Given the description of an element on the screen output the (x, y) to click on. 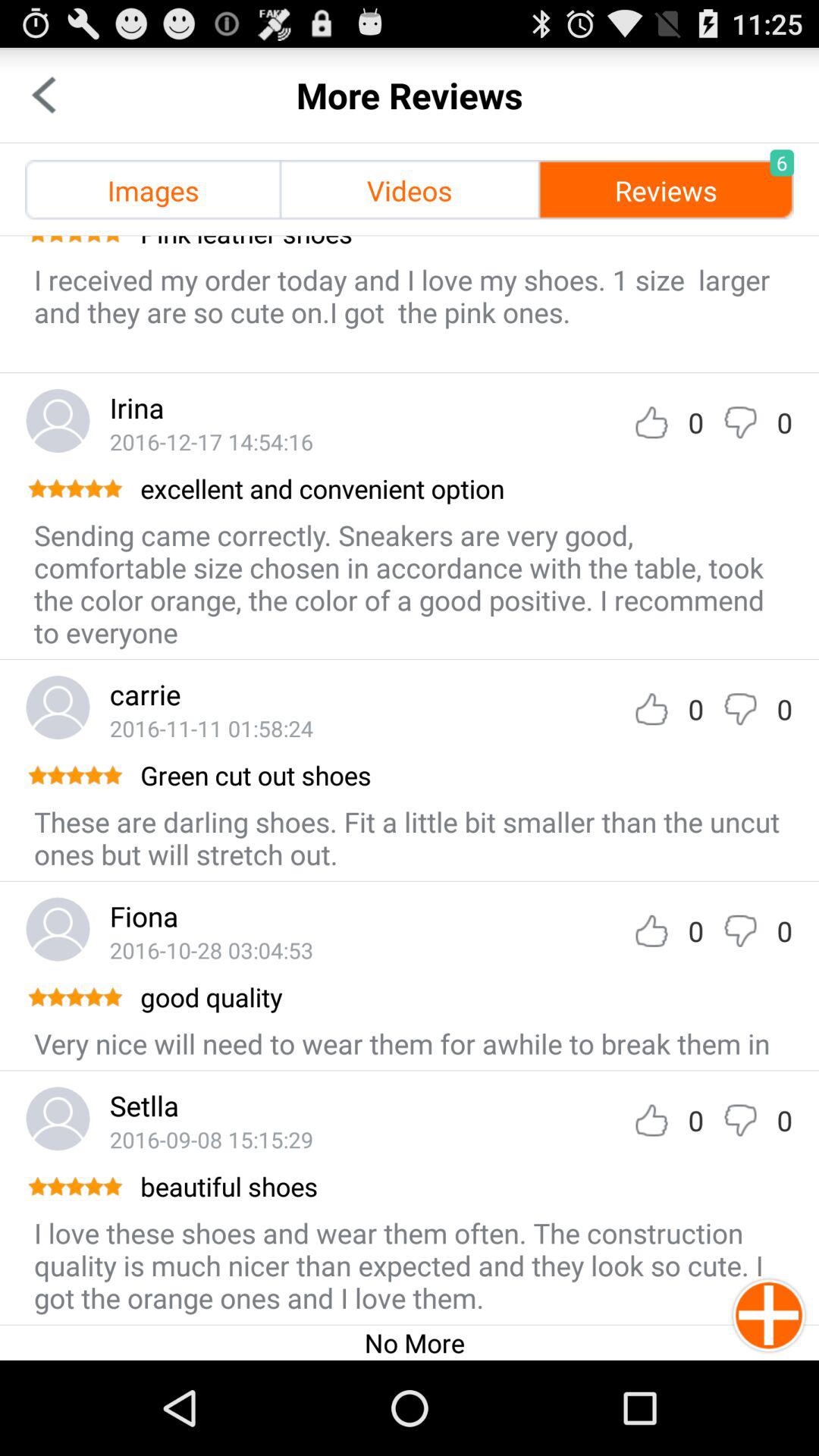
dislike (740, 1120)
